Given the description of an element on the screen output the (x, y) to click on. 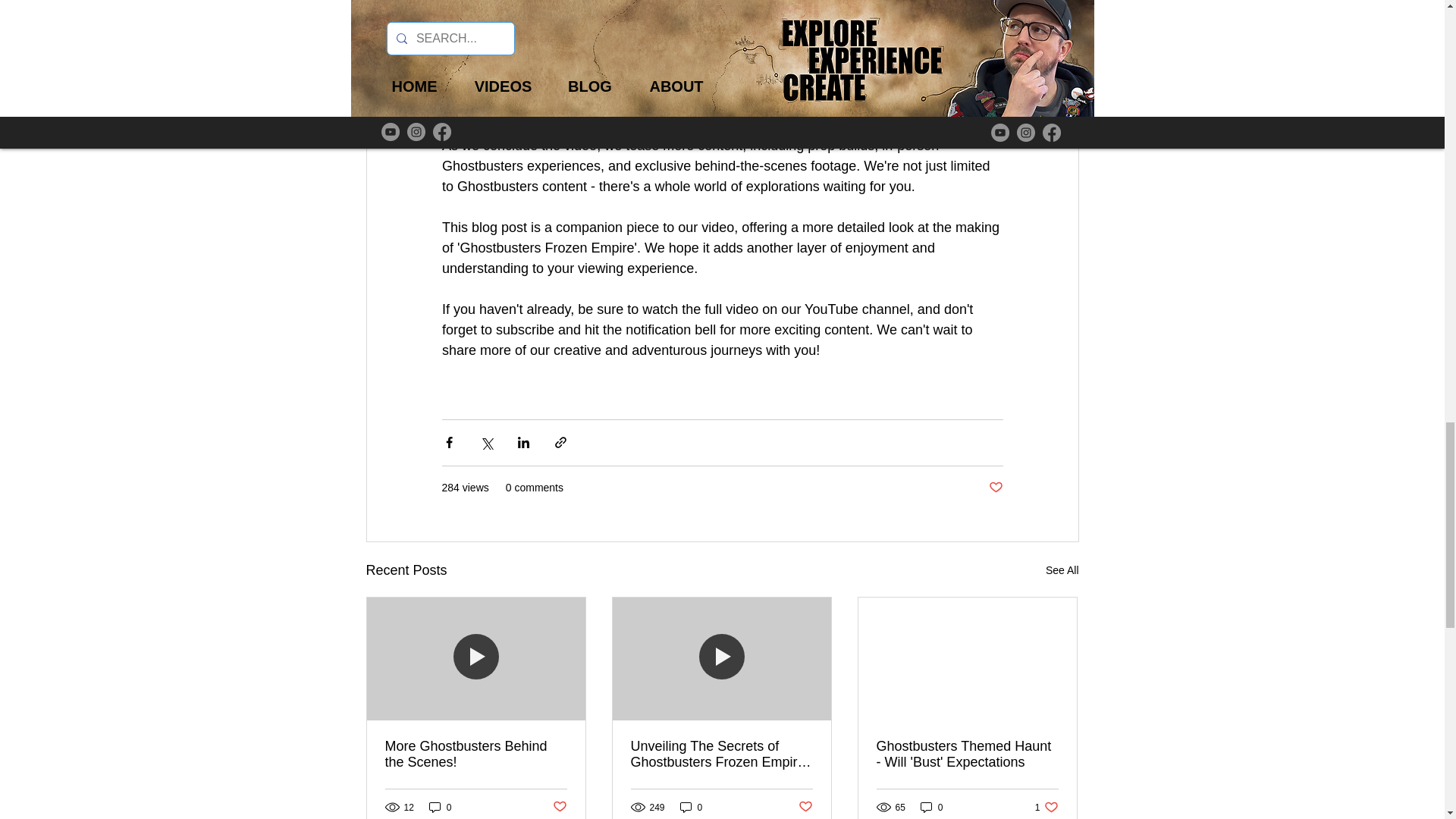
Post not marked as liked (558, 806)
0 (440, 807)
0 (691, 807)
Ghostbusters Themed Haunt - Will 'Bust' Expectations (967, 754)
0 (1046, 807)
See All (931, 807)
Post not marked as liked (1061, 570)
More Ghostbusters Behind the Scenes! (804, 806)
